Given the description of an element on the screen output the (x, y) to click on. 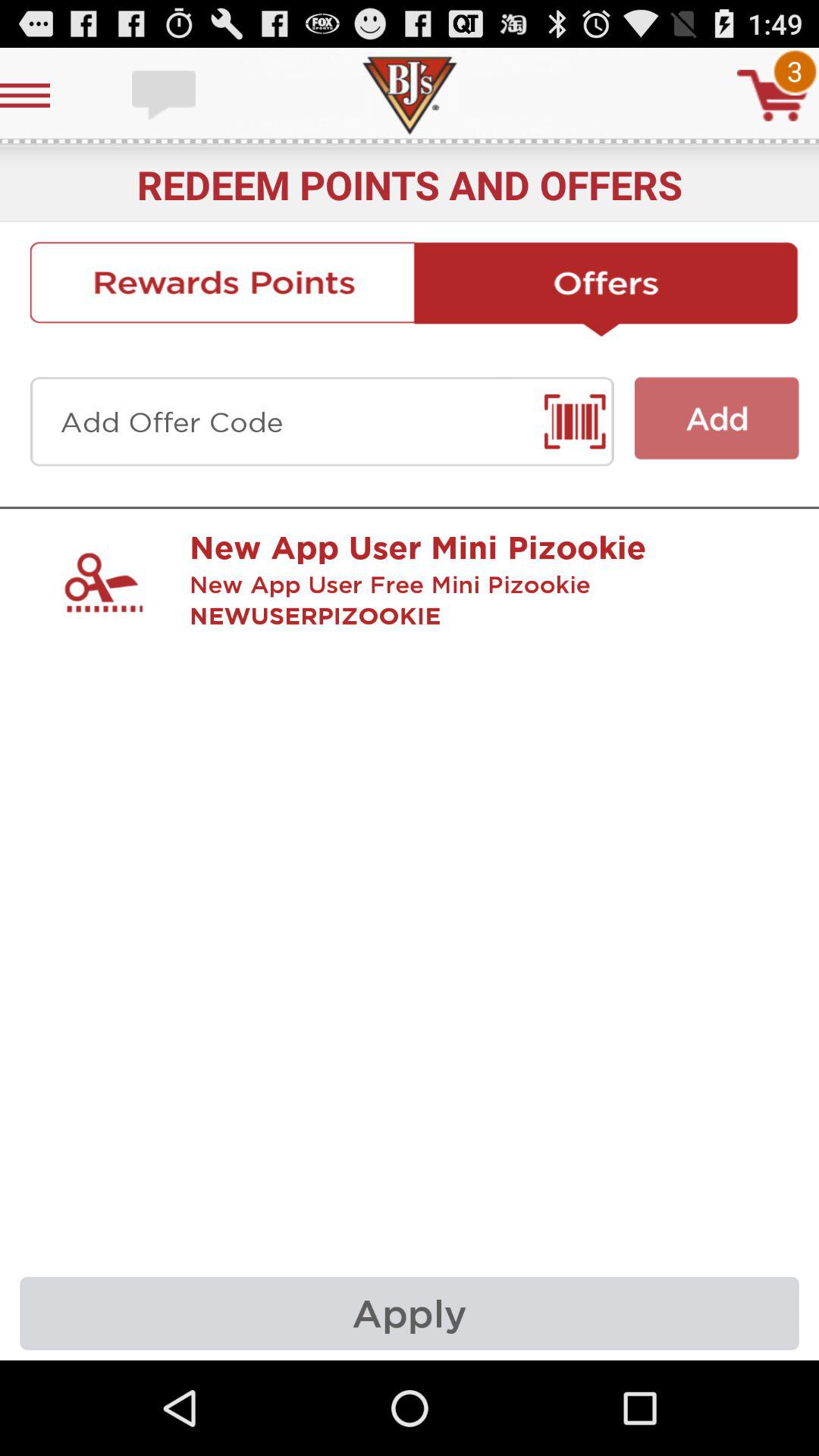
go to add image (716, 418)
